Given the description of an element on the screen output the (x, y) to click on. 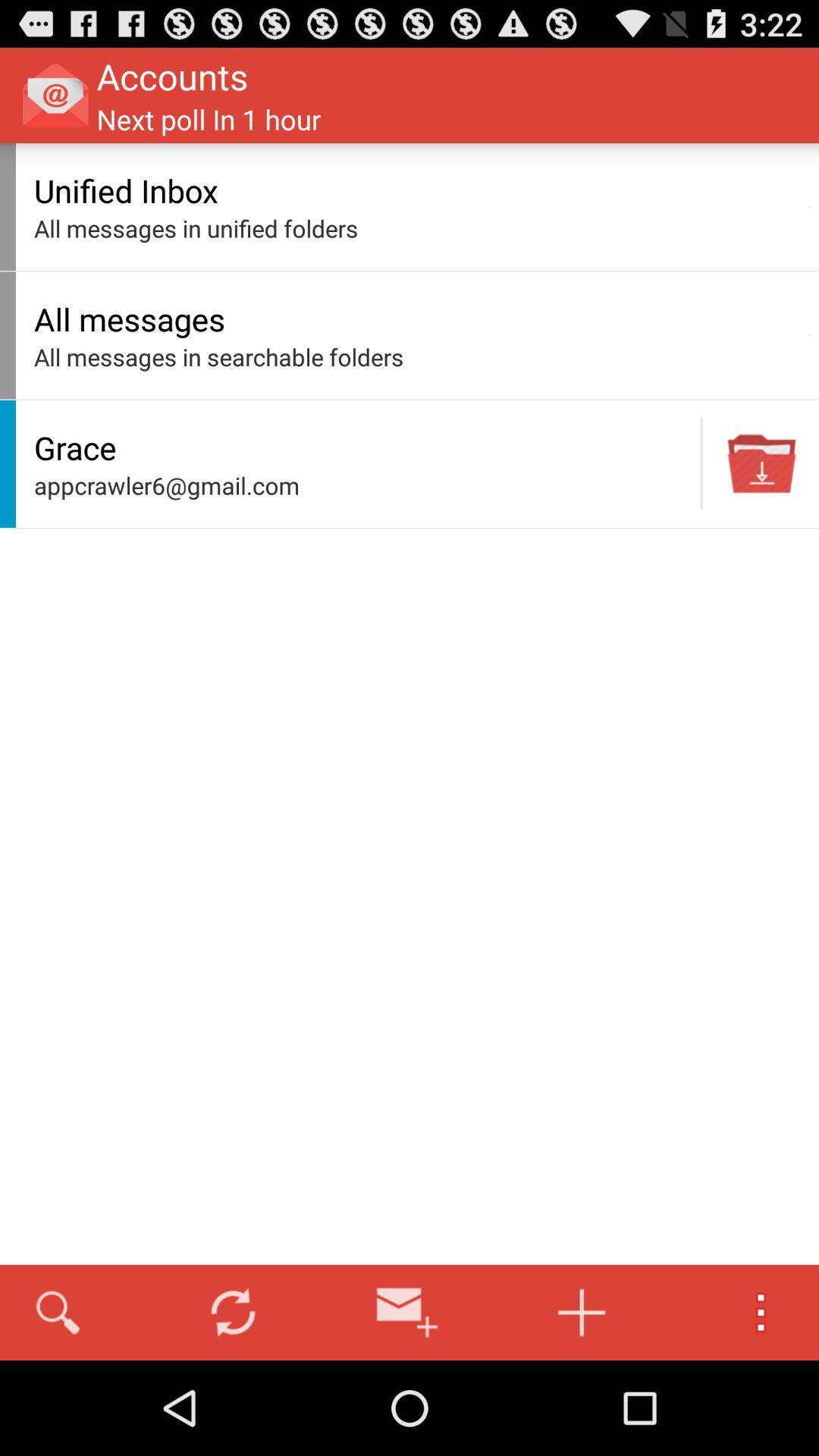
open the unified inbox icon (417, 190)
